Given the description of an element on the screen output the (x, y) to click on. 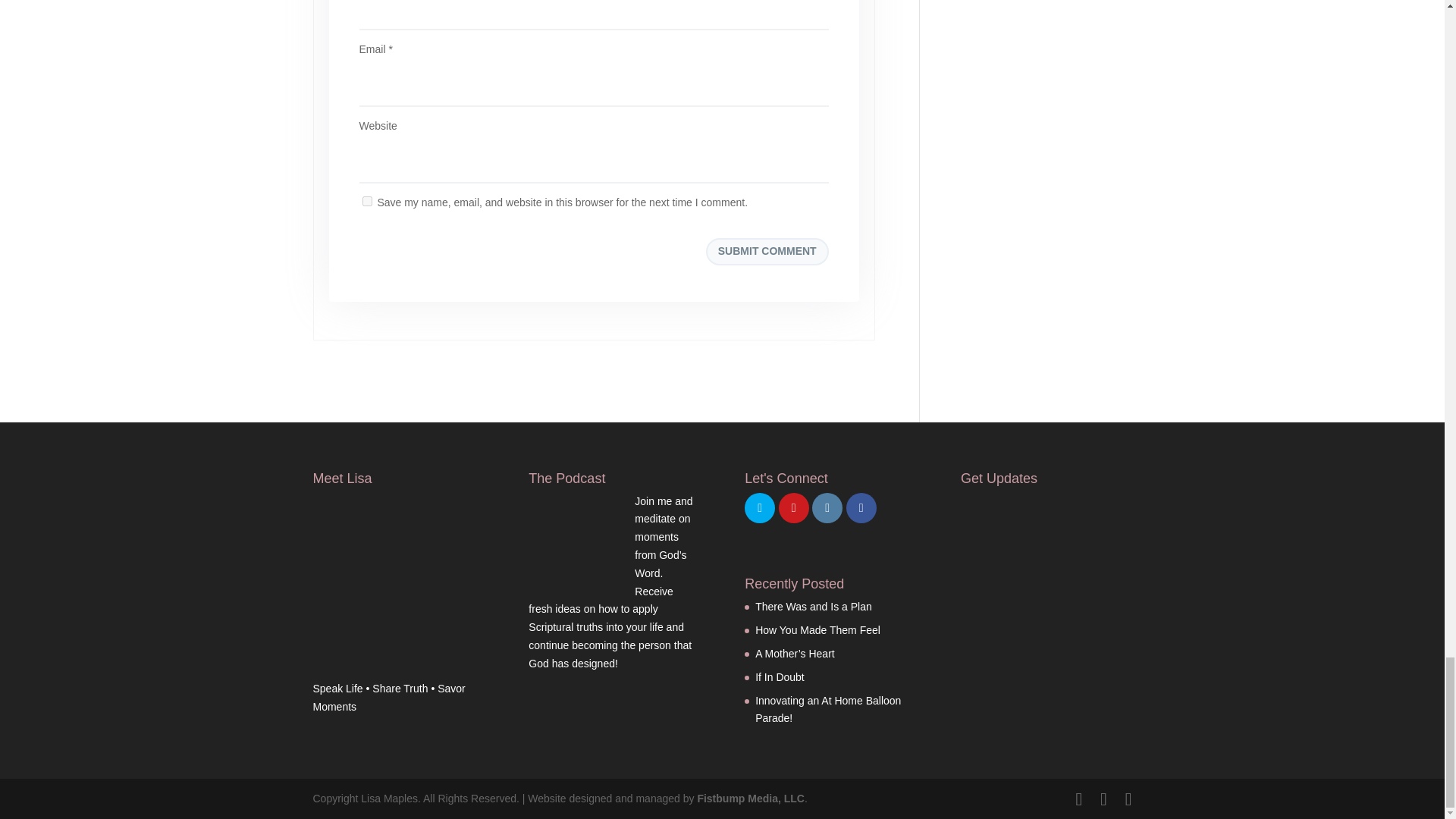
If In Doubt (780, 676)
Innovating an At Home Balloon Parade! (828, 709)
There Was and Is a Plan (813, 606)
yes (367, 201)
Submit Comment (767, 251)
Submit Comment (767, 251)
How You Made Them Feel (817, 630)
Fistbump Media, LLC (751, 798)
